Given the description of an element on the screen output the (x, y) to click on. 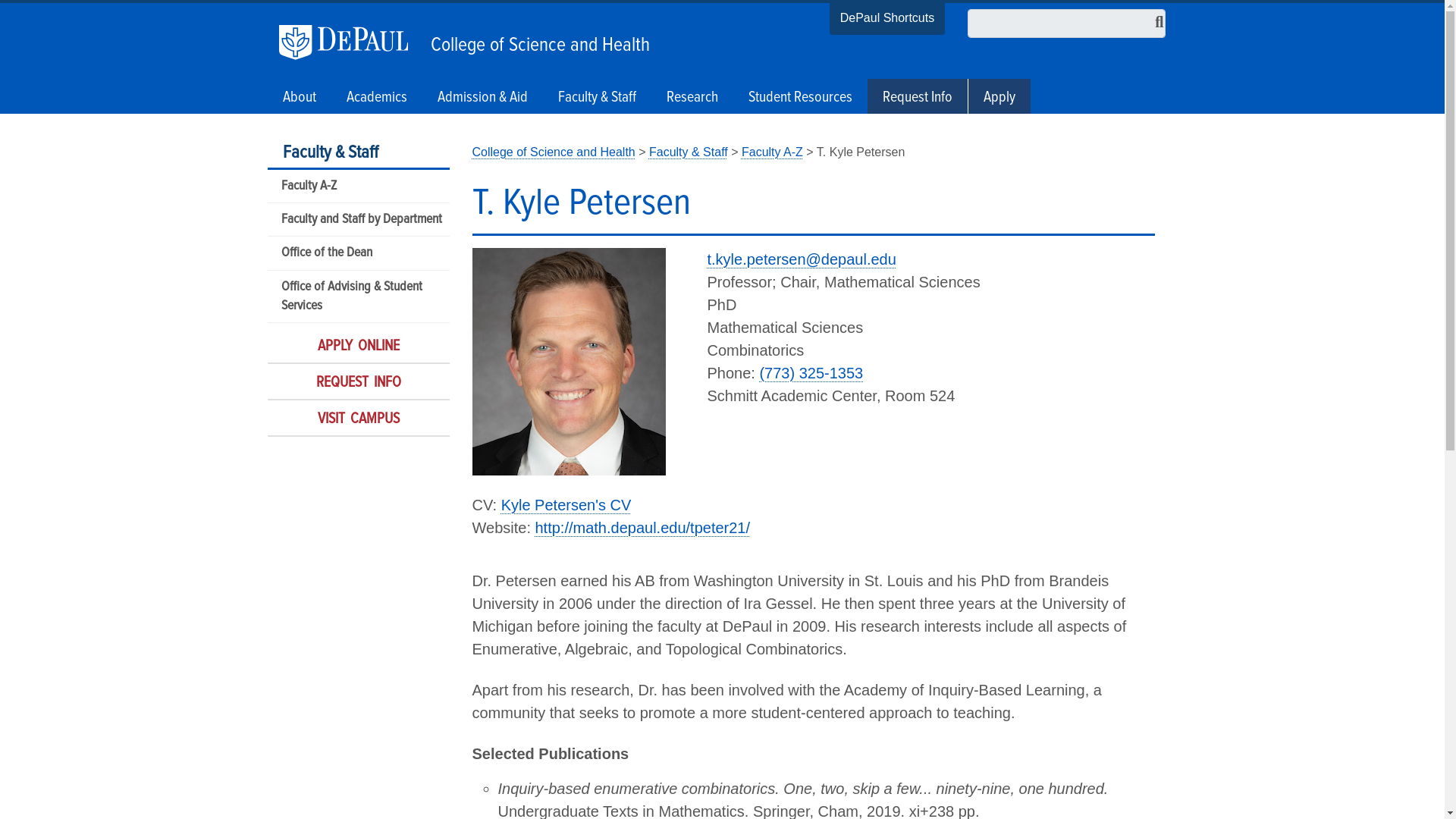
DePaul University CSH (552, 151)
College of Science and Health (536, 40)
DePaul University (351, 42)
DePaul Shortcuts (887, 20)
